Given the description of an element on the screen output the (x, y) to click on. 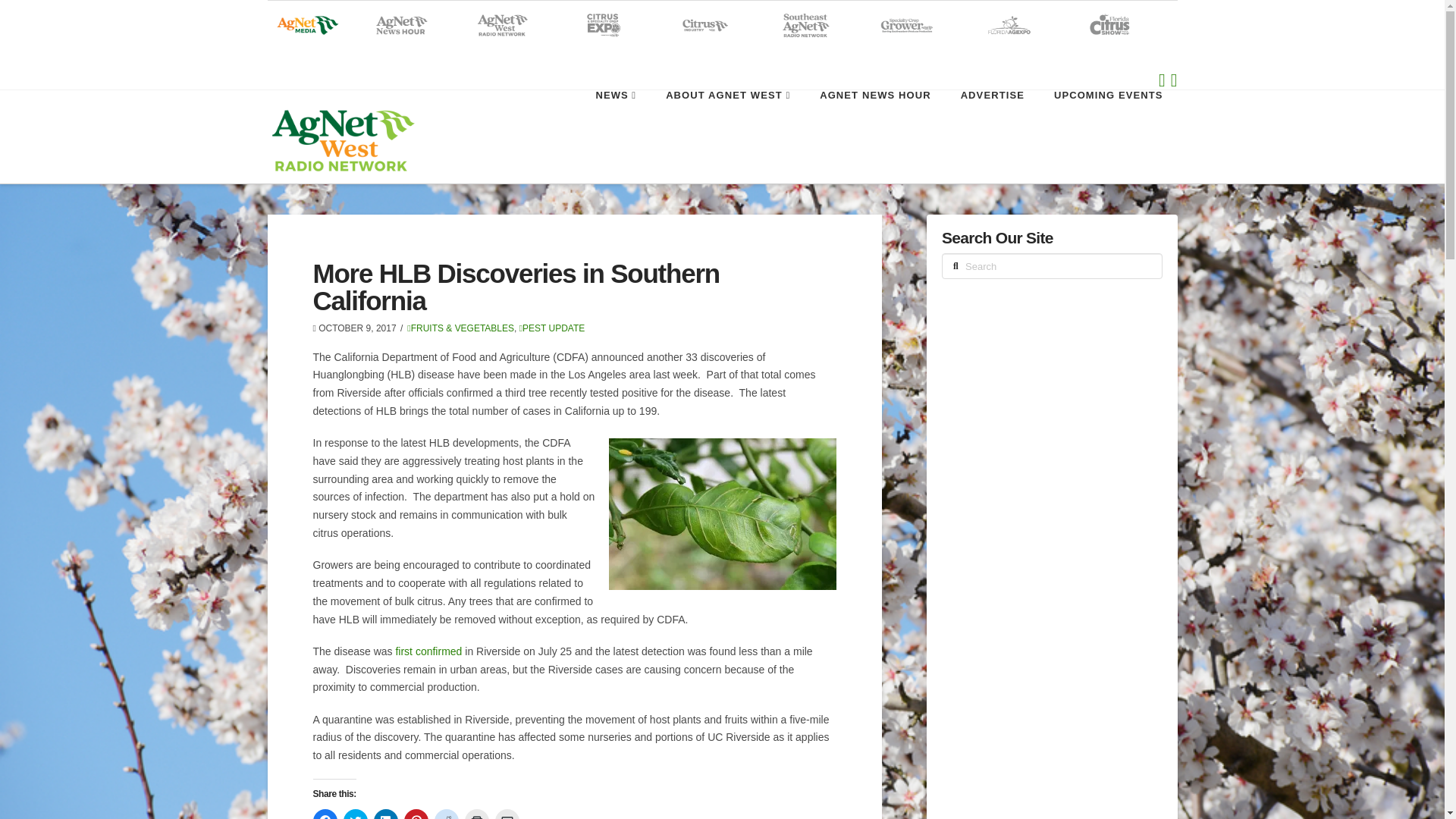
Click to share on Facebook (324, 814)
Click to share on Twitter (354, 814)
Click to share on Pinterest (415, 814)
NEWS (614, 124)
Click to print (475, 814)
Click to share on LinkedIn (384, 814)
Click to share on Reddit (445, 814)
Click to email a link to a friend (506, 814)
